Given the description of an element on the screen output the (x, y) to click on. 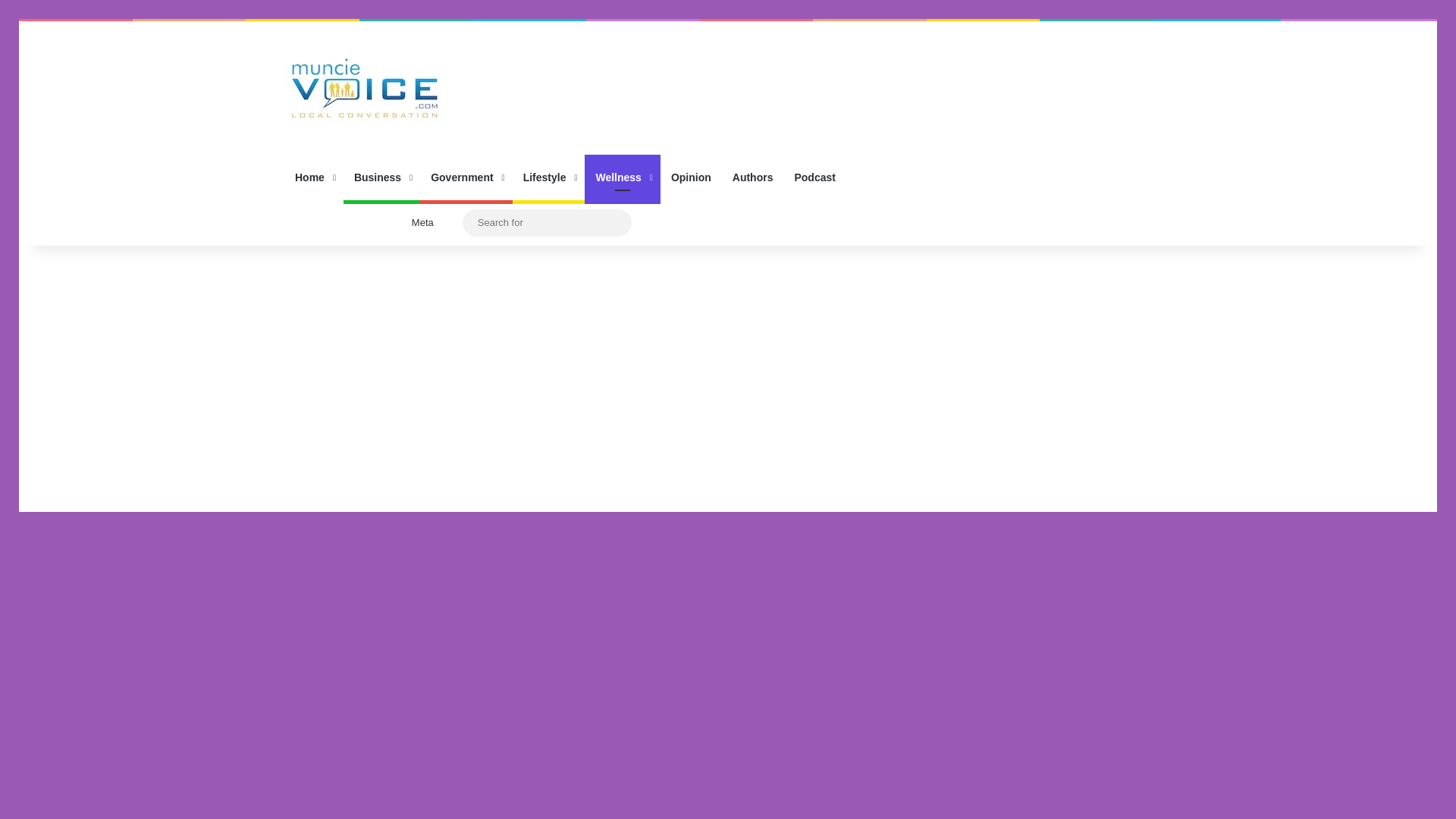
Lifestyle (548, 176)
Muncie Voice (363, 87)
Search for (616, 222)
Opinion (691, 176)
Government (466, 176)
Search for (547, 221)
Authors (753, 176)
Home (313, 176)
Wellness (622, 176)
Business (381, 176)
